Given the description of an element on the screen output the (x, y) to click on. 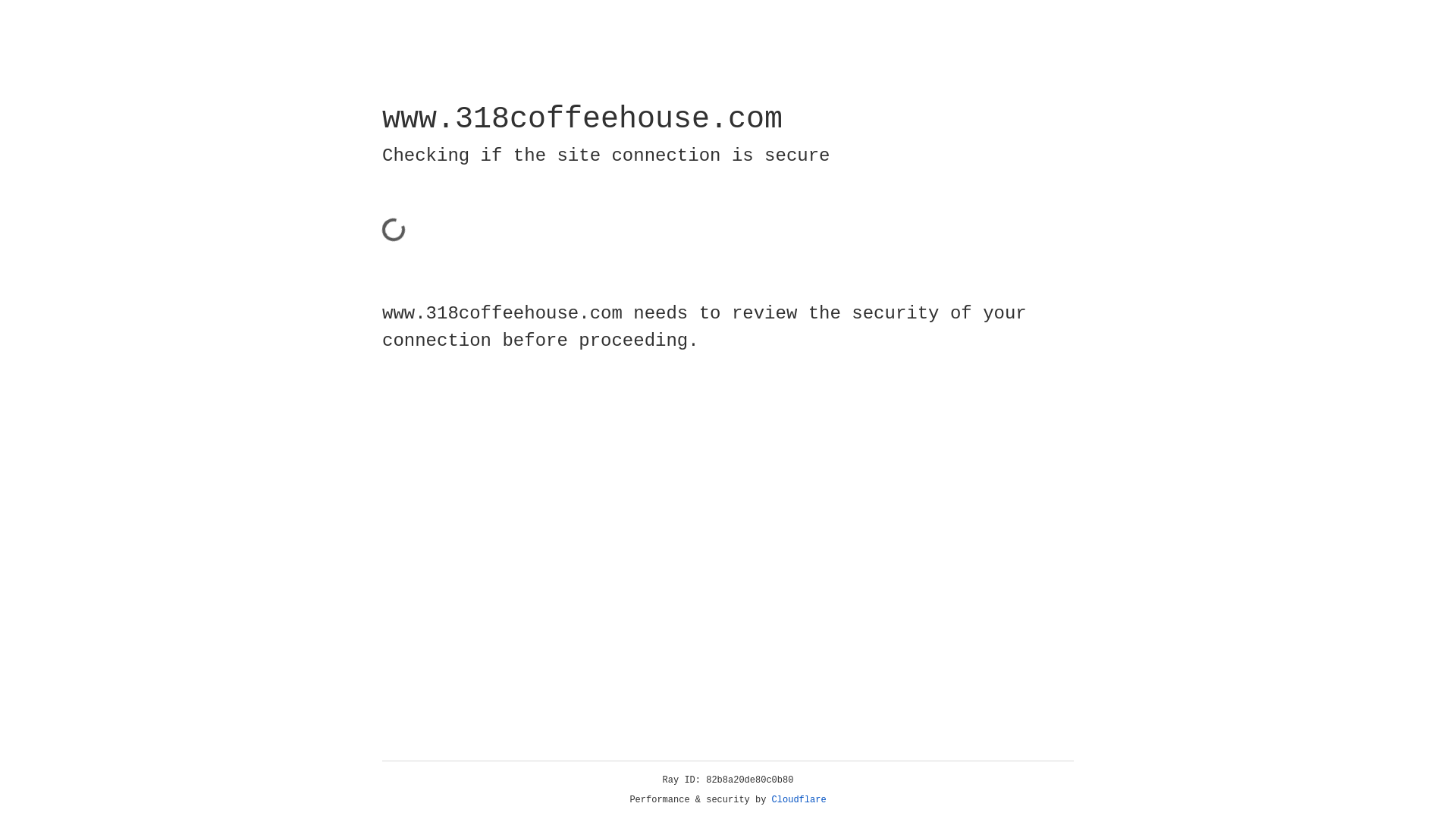
Cloudflare Element type: text (798, 799)
